Given the description of an element on the screen output the (x, y) to click on. 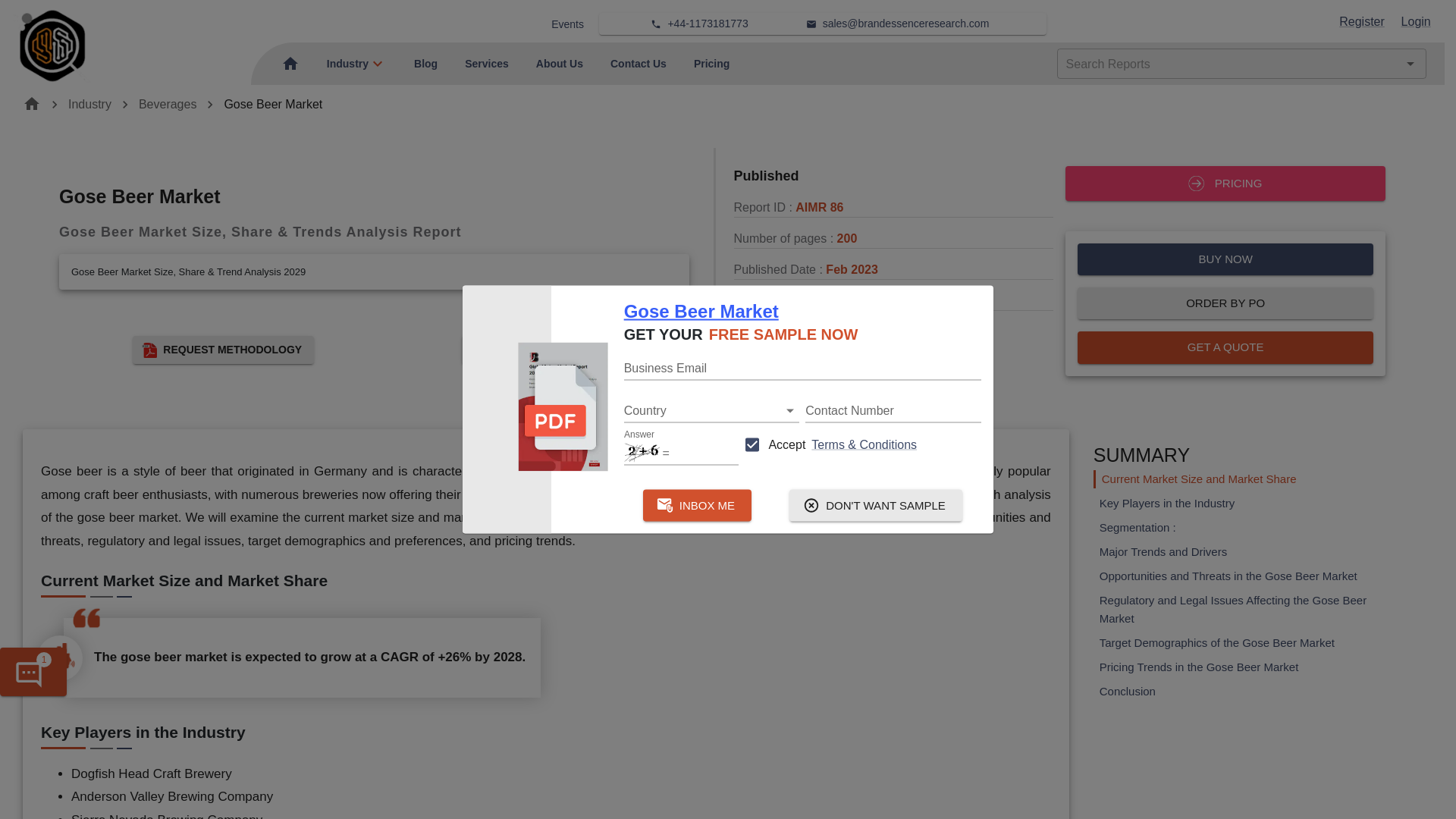
Beverages (167, 103)
Industry (347, 63)
Industry (90, 103)
Open (789, 409)
Blog (425, 63)
Register (1361, 21)
Services (486, 63)
Events (567, 24)
Blog (425, 63)
Events (567, 24)
Contact Us (638, 63)
PRICING (1225, 183)
Industry (347, 63)
Pricing (711, 63)
Services (486, 63)
